Given the description of an element on the screen output the (x, y) to click on. 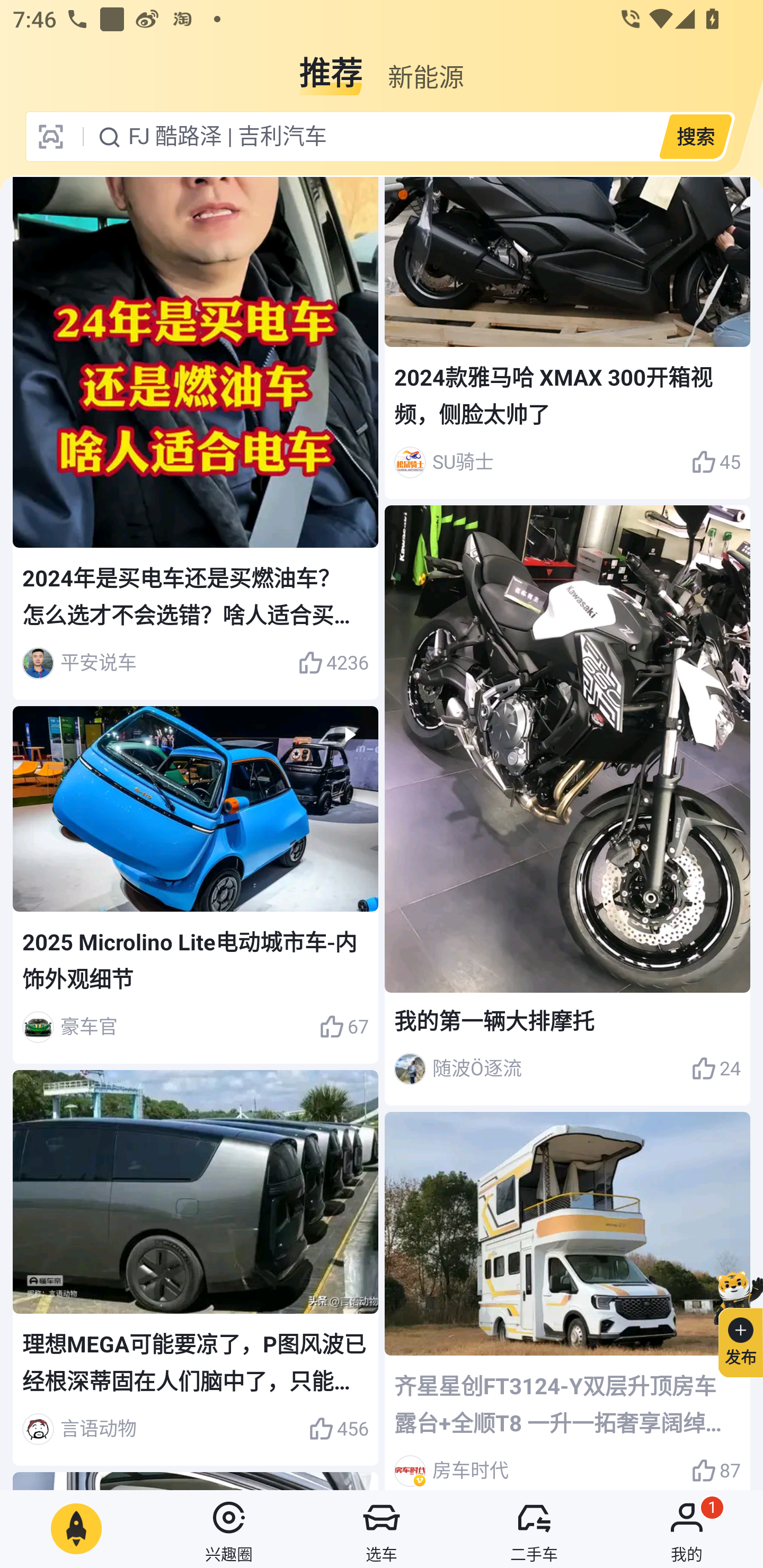
推荐 (330, 65)
新能源 (425, 65)
搜索 (695, 136)
2024款雅马哈 XMAX 300开箱视频，侧脸太帅了 SU骑士 45 (567, 337)
45 (715, 462)
我的第一辆大排摩托 随波Ö逐流 24 (567, 804)
4236 (332, 662)
 2025 Microlino Lite电动城市车-内饰外观细节 豪车官 67 (195, 884)
67 (343, 1026)
24 (715, 1068)
齐星星创FT3124-Y双层升顶房车 露台+全顺T8 一升一拓奢享阔绰空间 房车时代 87 (567, 1300)
发布 (732, 1321)
456 (338, 1428)
87 (715, 1468)
 兴趣圈 (228, 1528)
 选车 (381, 1528)
 二手车 (533, 1528)
 我的 (686, 1528)
